Given the description of an element on the screen output the (x, y) to click on. 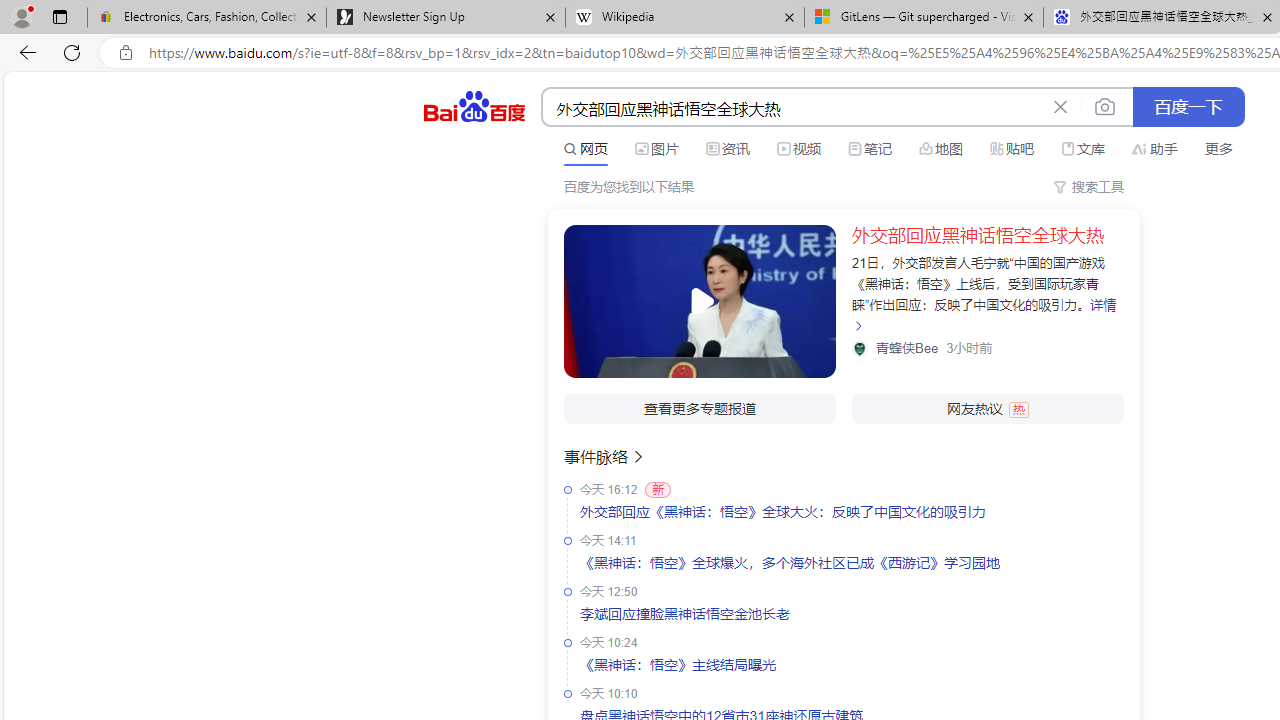
Newsletter Sign Up (445, 17)
View site information (125, 53)
